Given the description of an element on the screen output the (x, y) to click on. 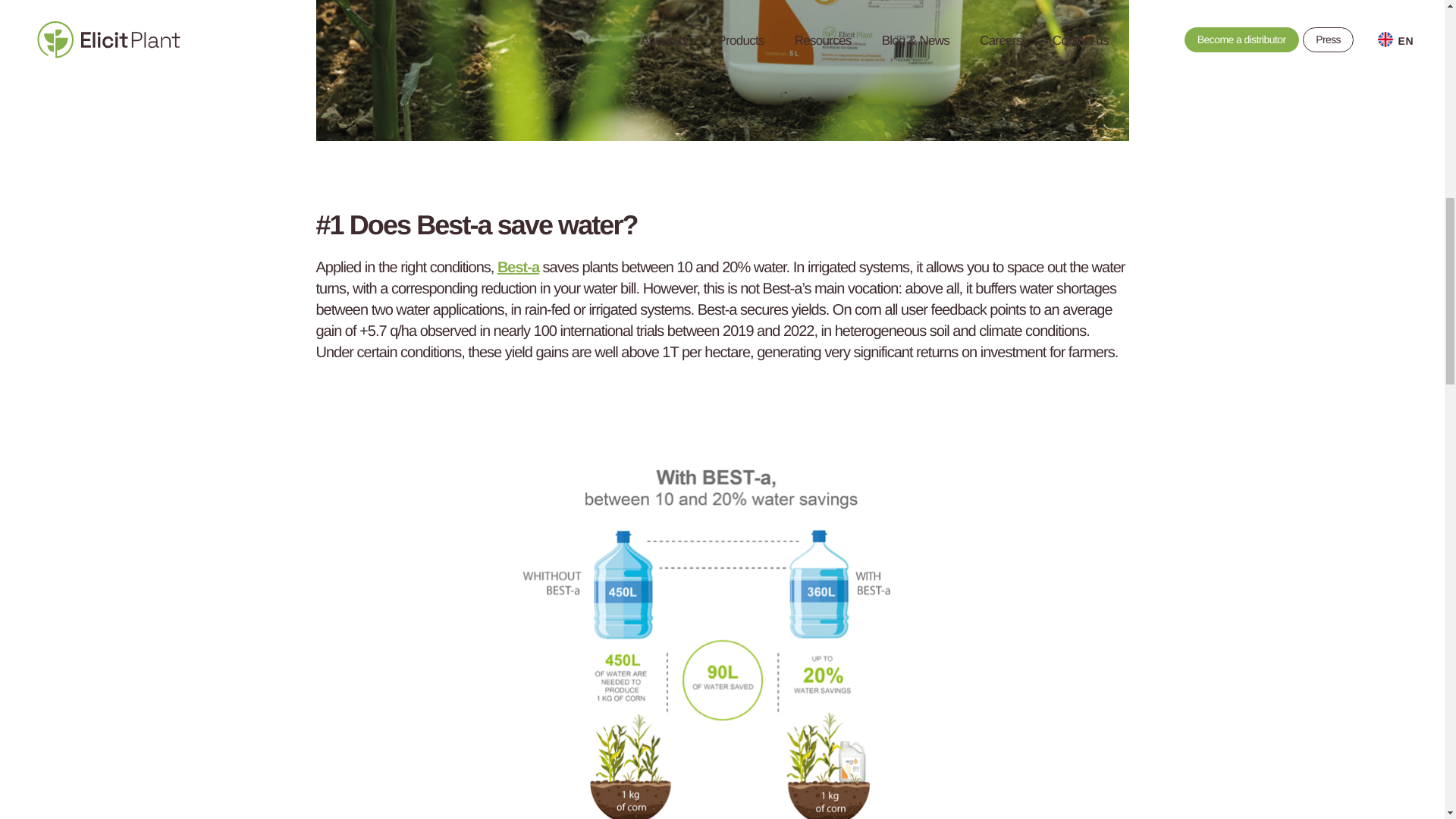
Best-a (517, 267)
